Given the description of an element on the screen output the (x, y) to click on. 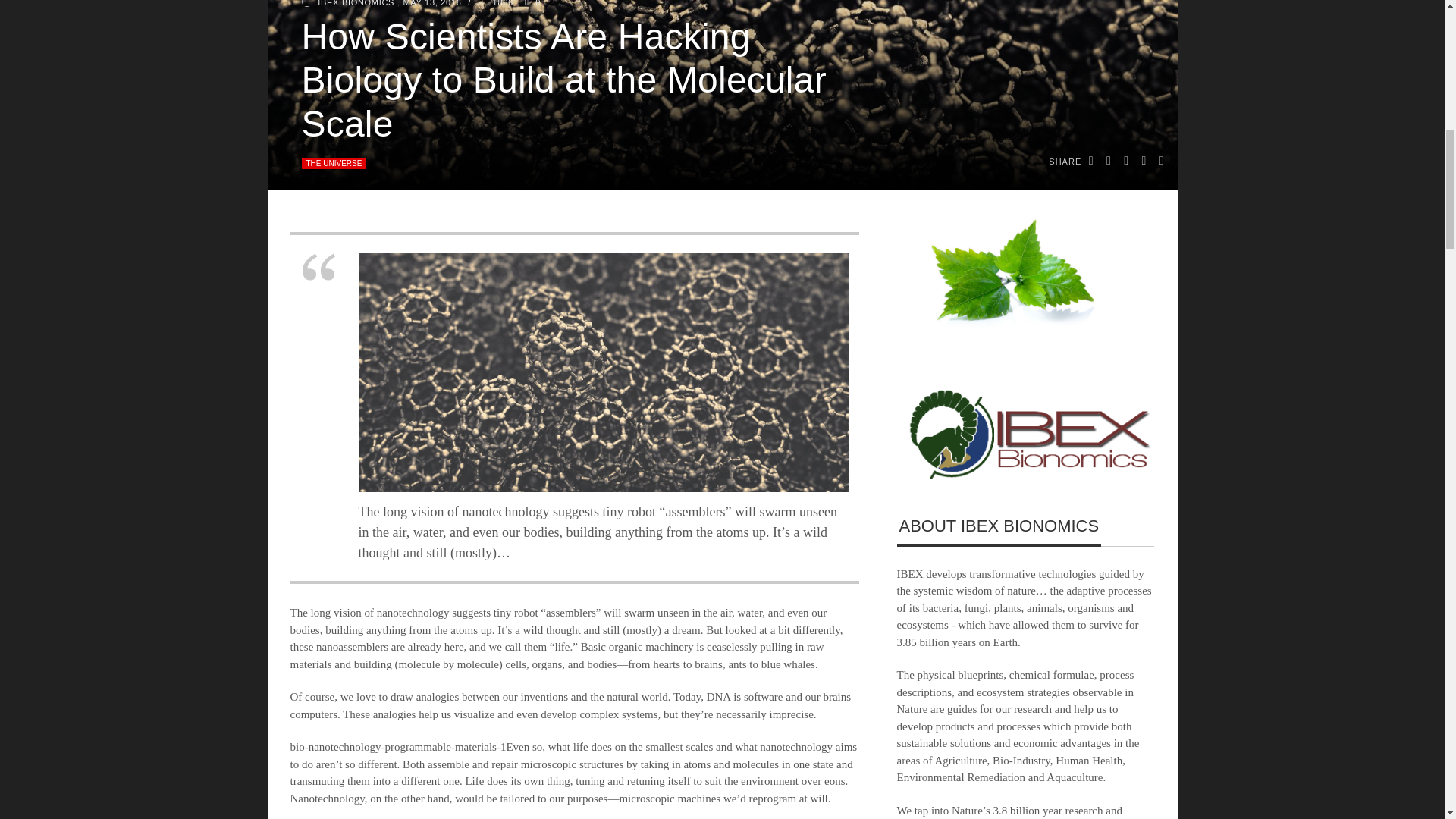
THE UNIVERSE (333, 163)
Share on Tumblr (1161, 161)
Share on Pinterest (1144, 161)
IBEX Bionomics (307, 3)
IBEX BIONOMICS (357, 3)
Share on Facebook (1091, 161)
Share on Twitter (1109, 161)
THE UNIVERSE (333, 163)
